Given the description of an element on the screen output the (x, y) to click on. 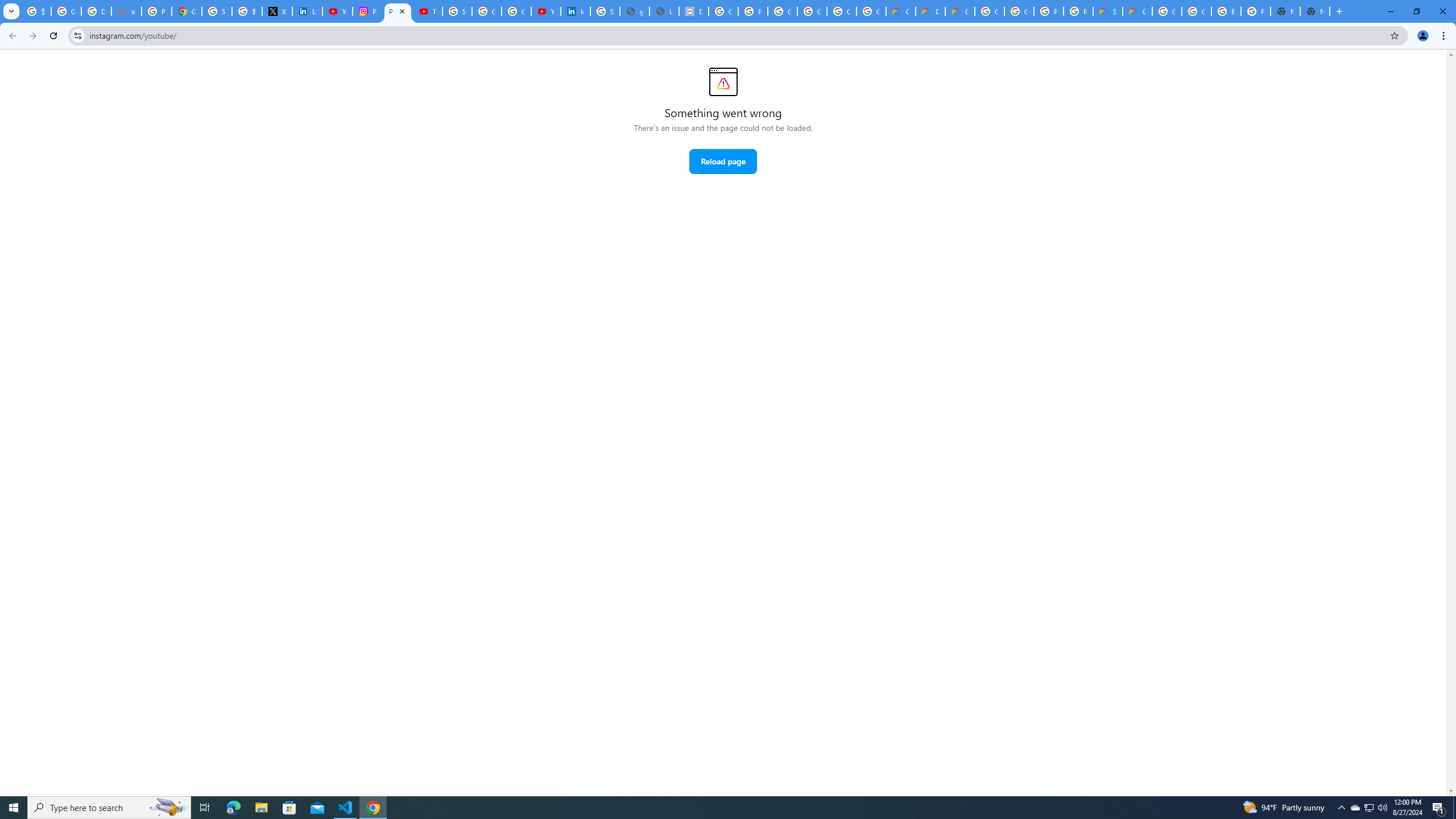
YouTube Content Monetization Policies - How YouTube Works (337, 11)
Google Cloud Platform (1196, 11)
Sign in - Google Accounts (216, 11)
Support Hub | Google Cloud (1107, 11)
